Given the description of an element on the screen output the (x, y) to click on. 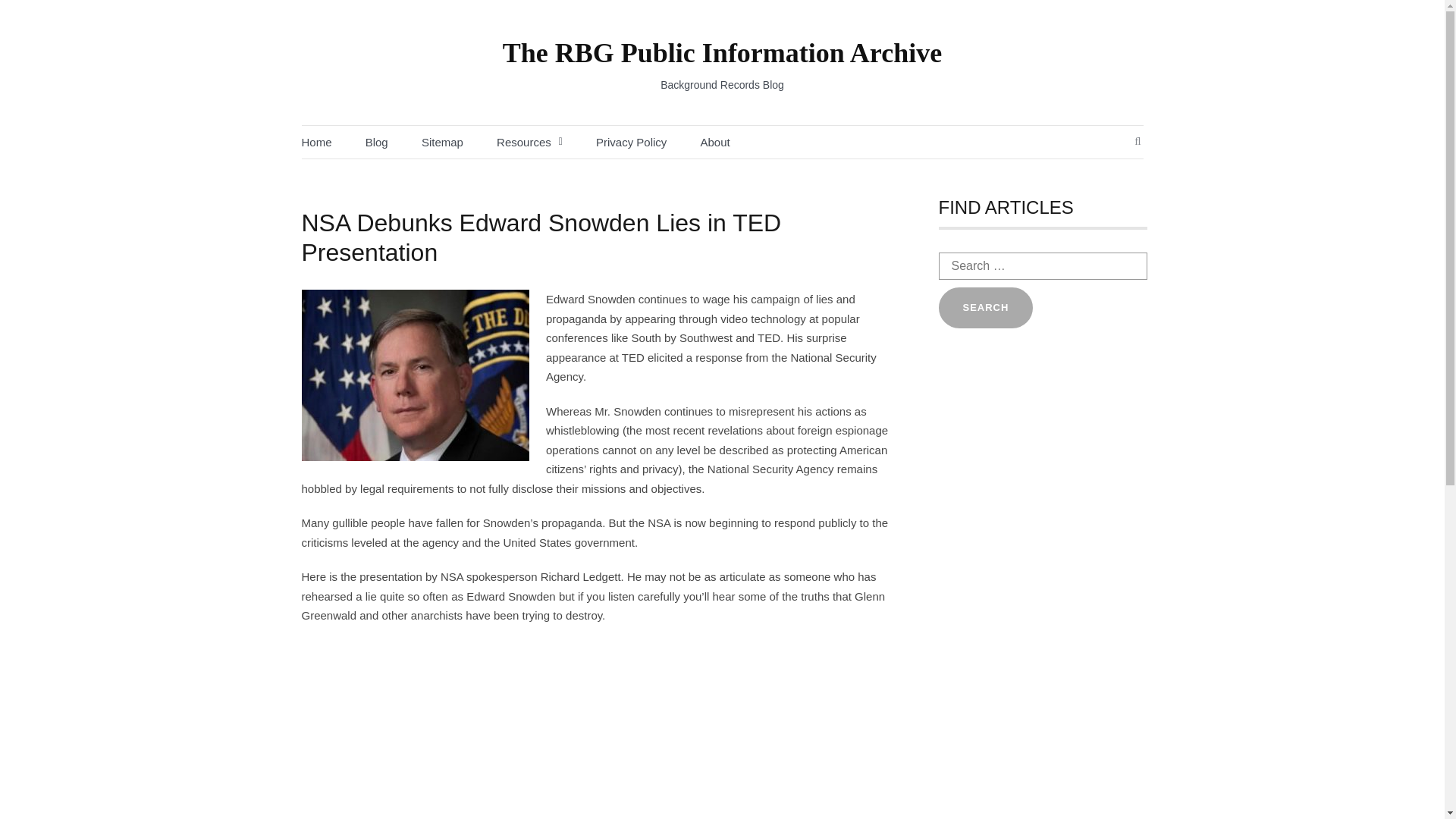
Search (986, 307)
About (715, 142)
Search (986, 307)
Resources (523, 142)
Blog (376, 142)
Offsite Listings and Other Information (580, 217)
Our Network (580, 175)
Search (986, 307)
Home (316, 142)
MARCH 22, 2014 (324, 237)
